Given the description of an element on the screen output the (x, y) to click on. 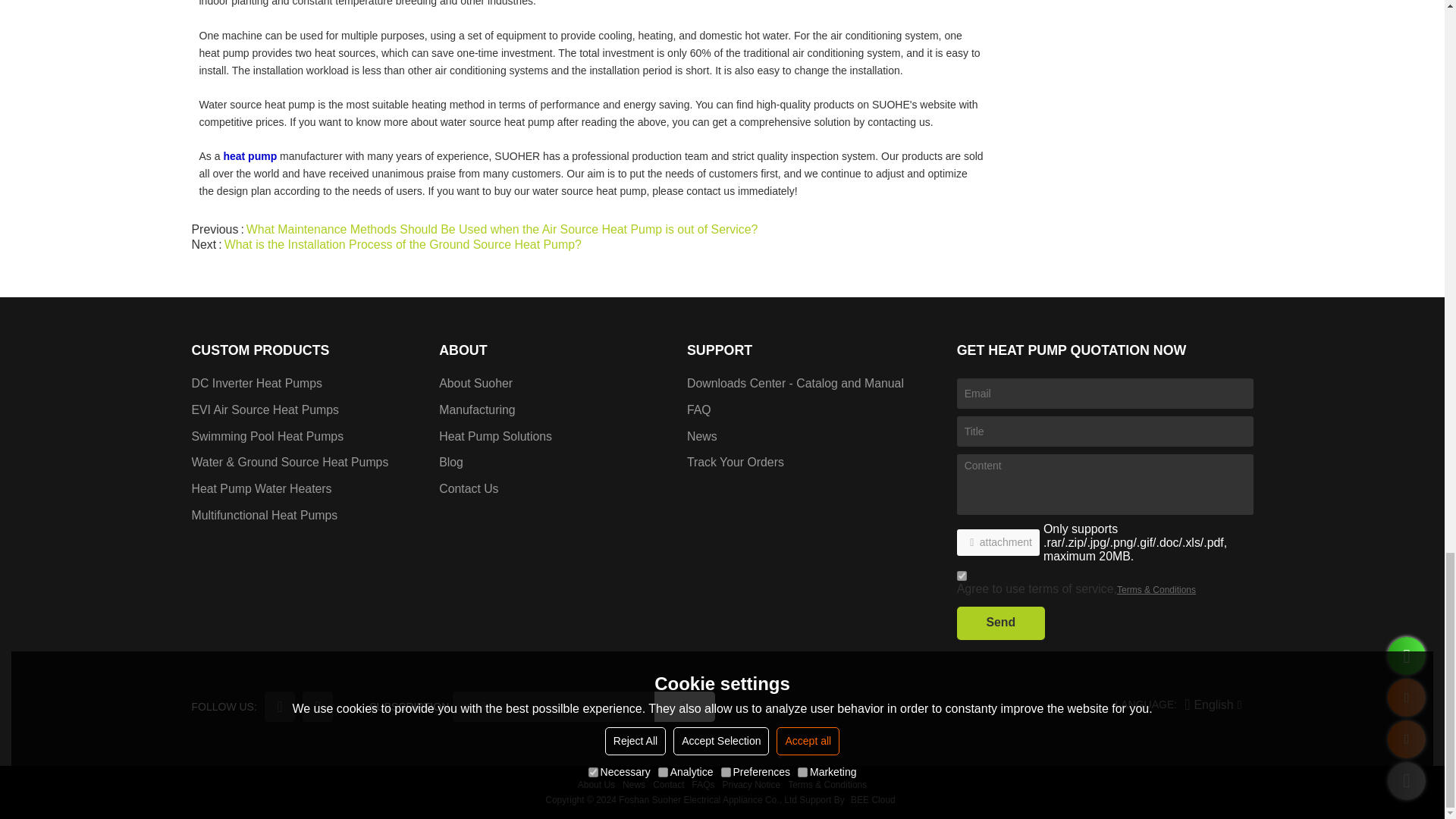
on (961, 575)
heat pump (249, 156)
